Given the description of an element on the screen output the (x, y) to click on. 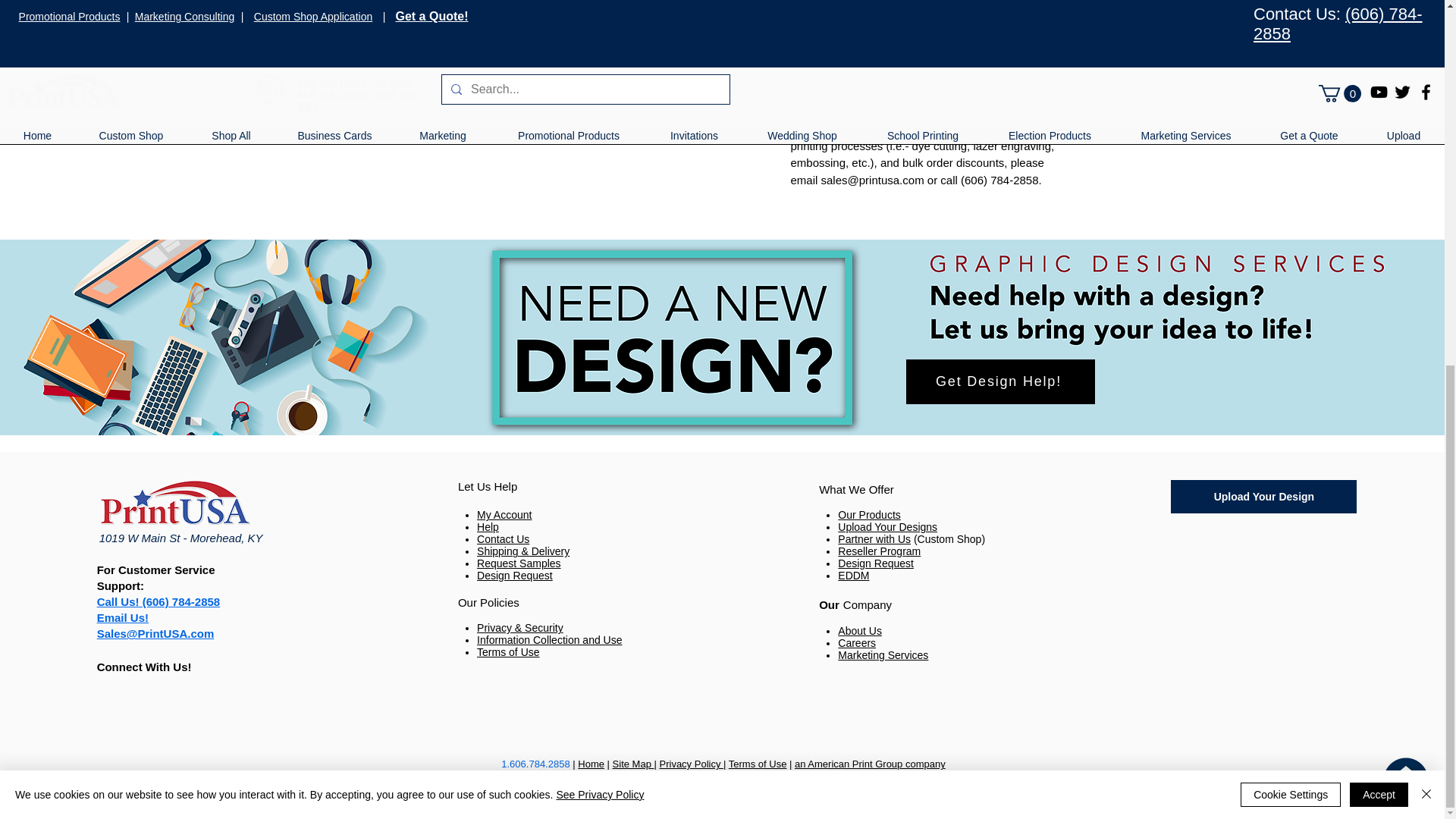
Embedded Content (1263, 622)
